Given the description of an element on the screen output the (x, y) to click on. 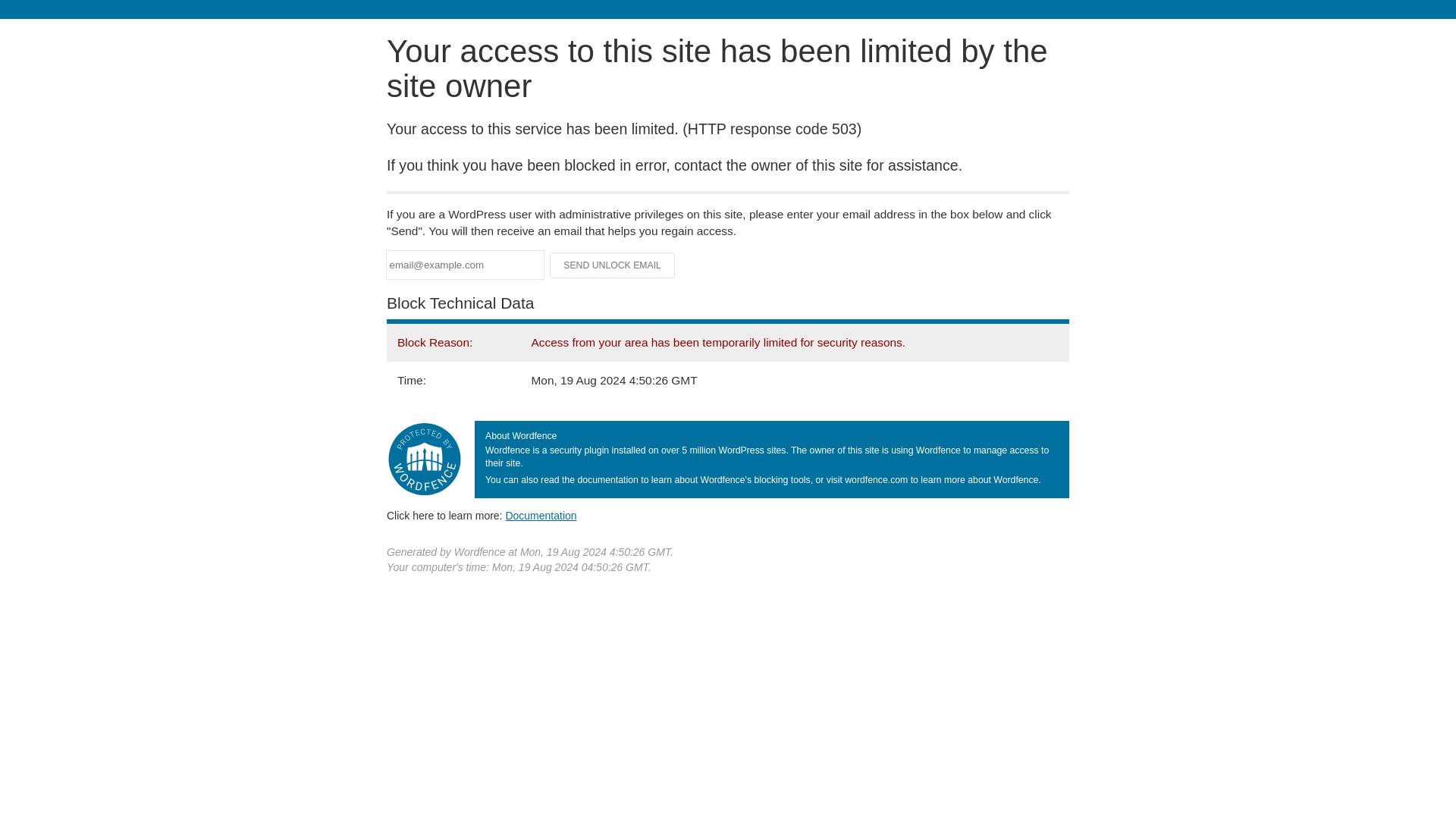
Documentation (540, 515)
Send Unlock Email (612, 265)
Send Unlock Email (612, 265)
